Given the description of an element on the screen output the (x, y) to click on. 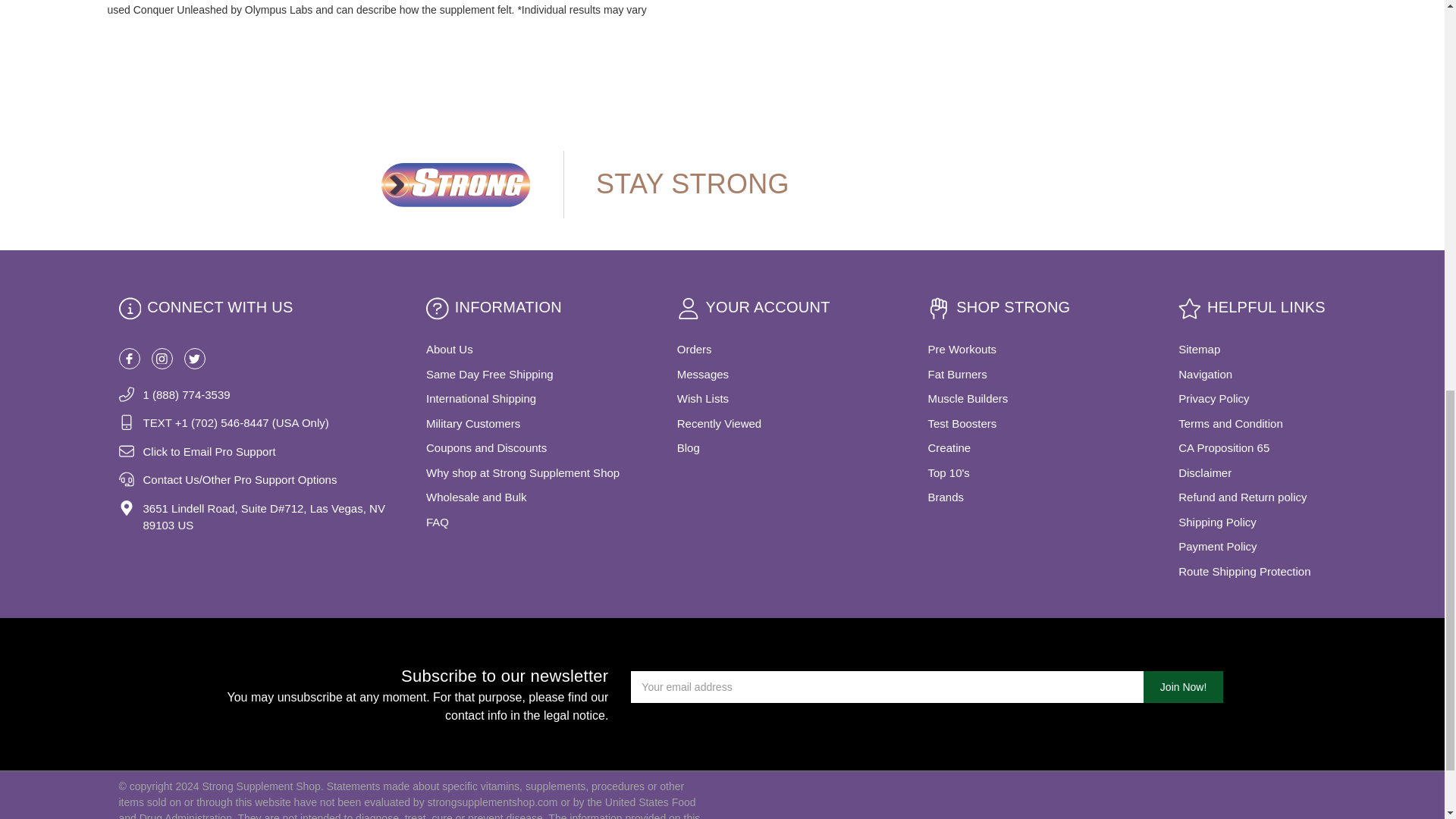
Facebook (128, 358)
Join Now! (1182, 686)
Strong Supplement Shop (455, 184)
Instagram (162, 358)
